Given the description of an element on the screen output the (x, y) to click on. 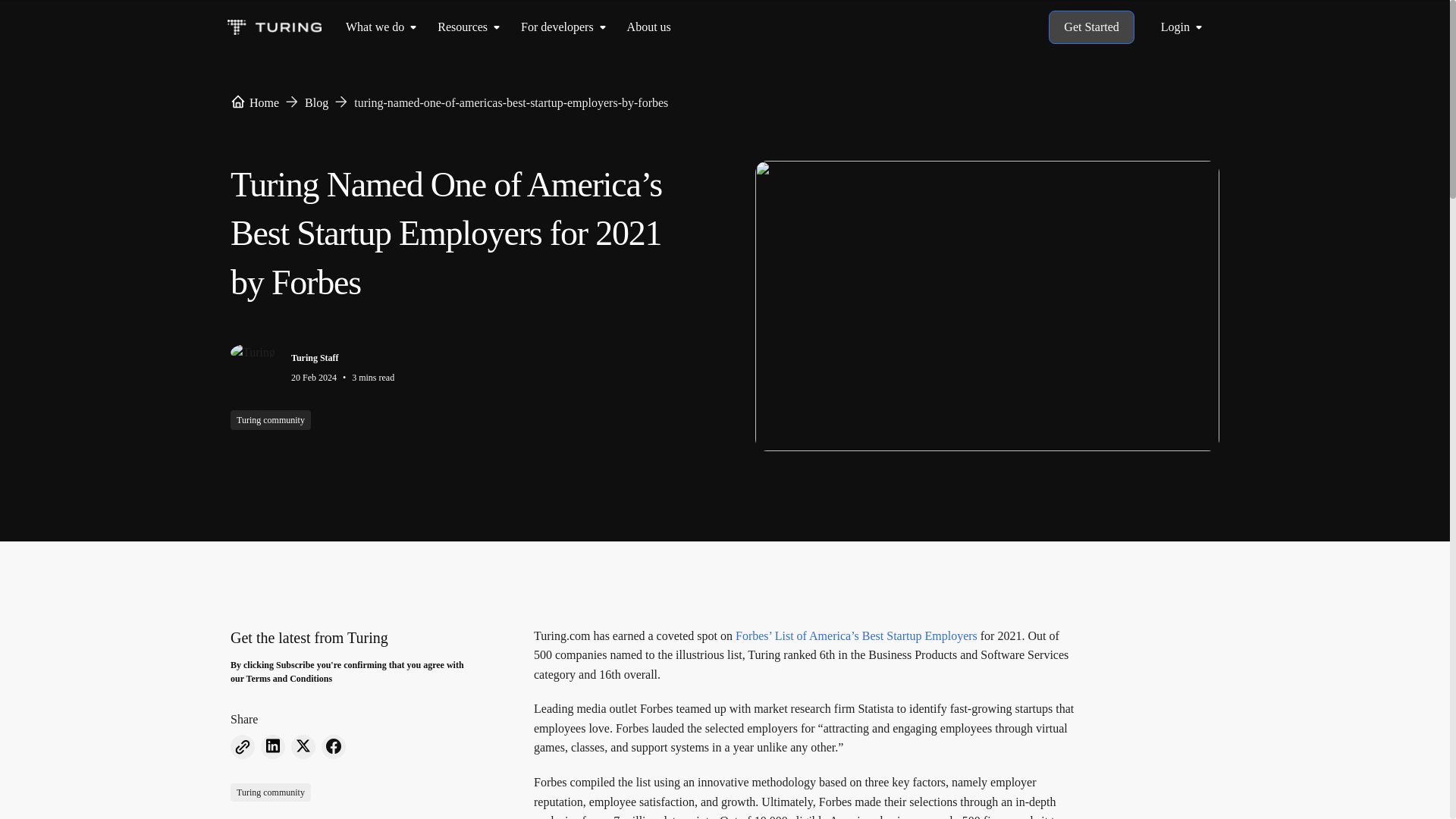
For developers (557, 26)
Login (1185, 26)
Resources (462, 26)
Get Started (1091, 27)
What we do (375, 26)
About us (649, 26)
